Given the description of an element on the screen output the (x, y) to click on. 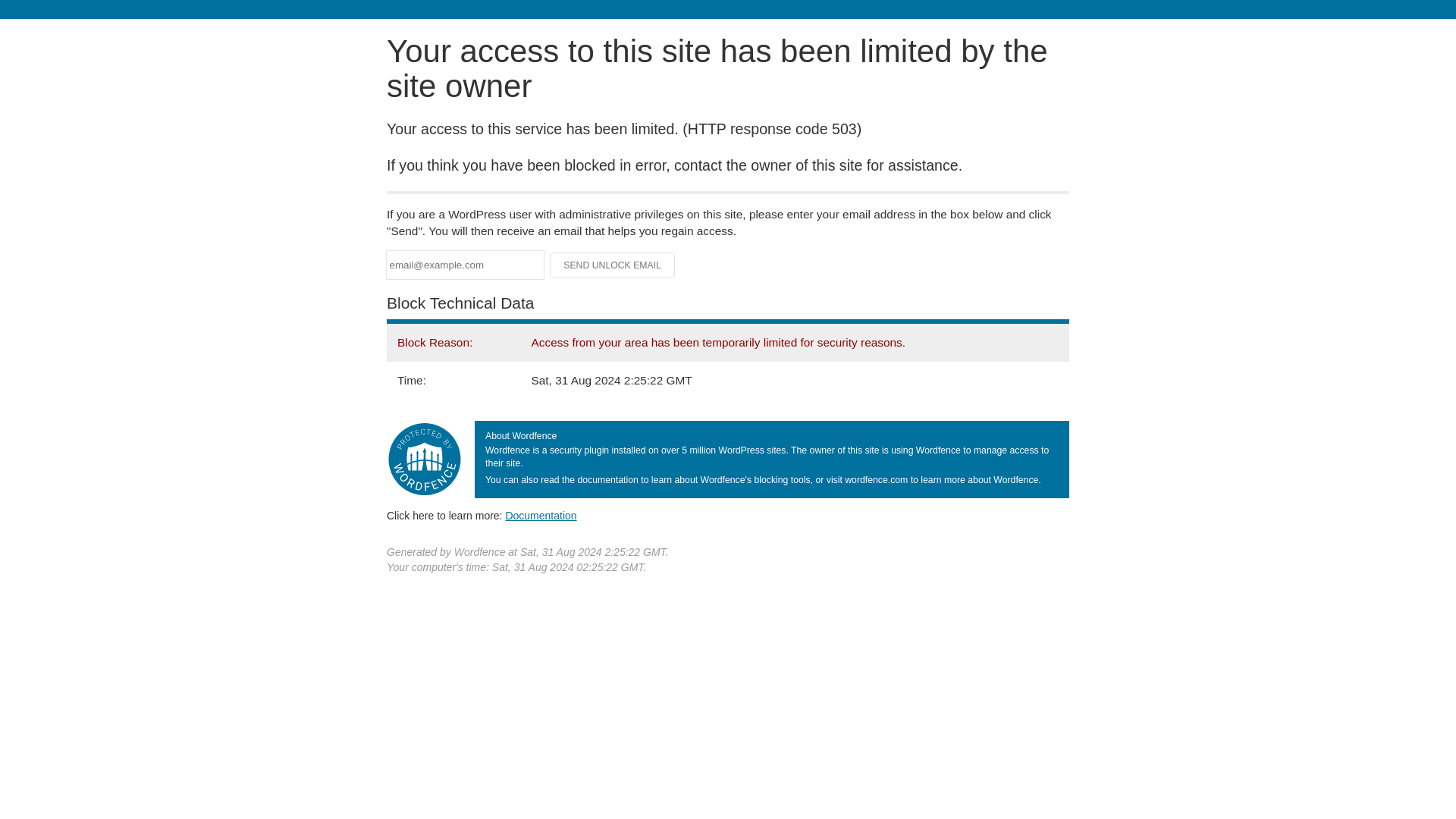
Documentation (540, 515)
Send Unlock Email (612, 265)
Send Unlock Email (612, 265)
